Given the description of an element on the screen output the (x, y) to click on. 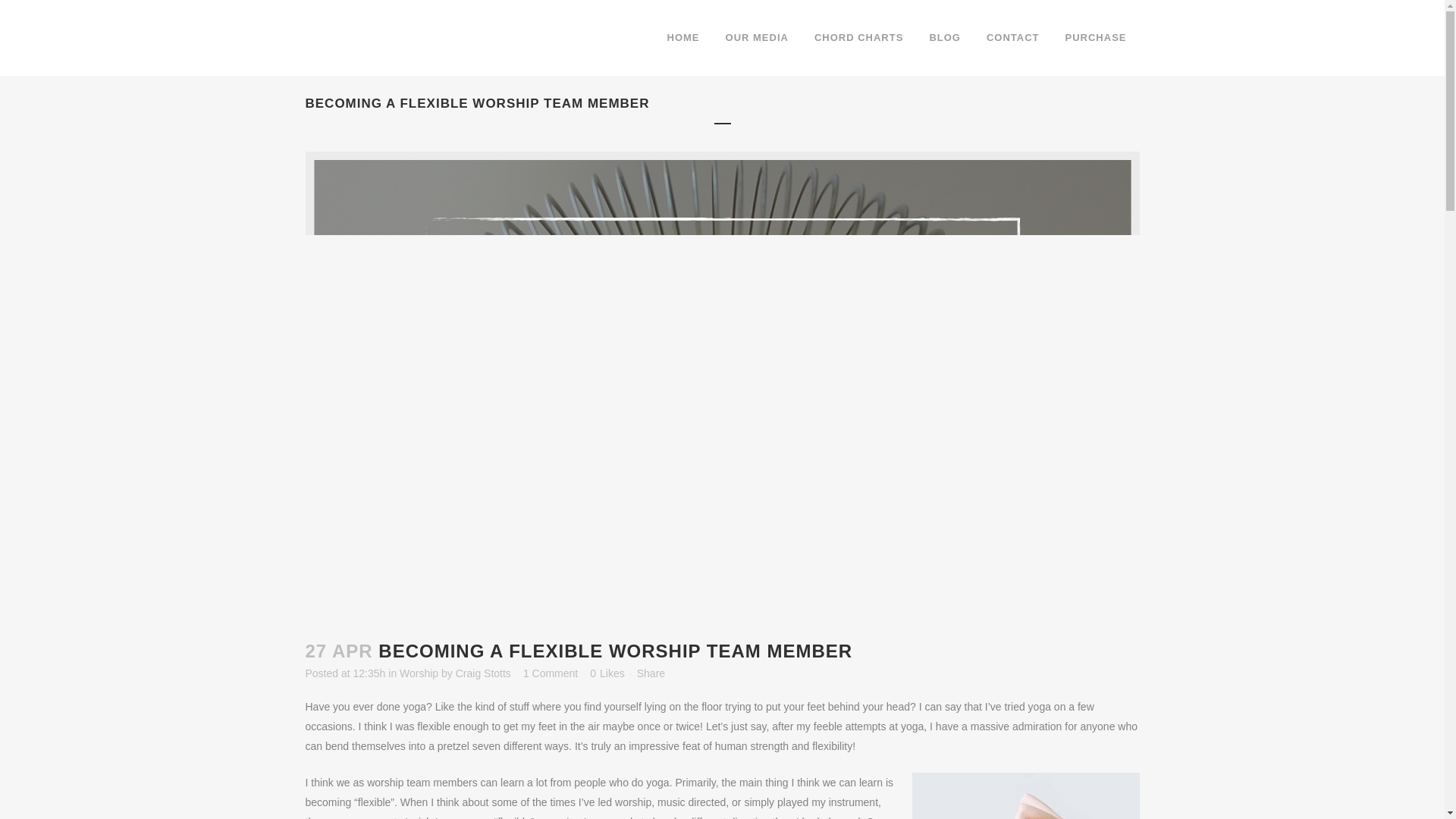
5 topics (1074, 491)
Craig Stotts (483, 673)
1 topic (1025, 468)
Killing Comparison (621, 467)
Worship (418, 673)
Share (651, 673)
OUR MEDIA (757, 38)
6 topics (962, 468)
CONTACT (1013, 38)
1 topic (1089, 468)
